Given the description of an element on the screen output the (x, y) to click on. 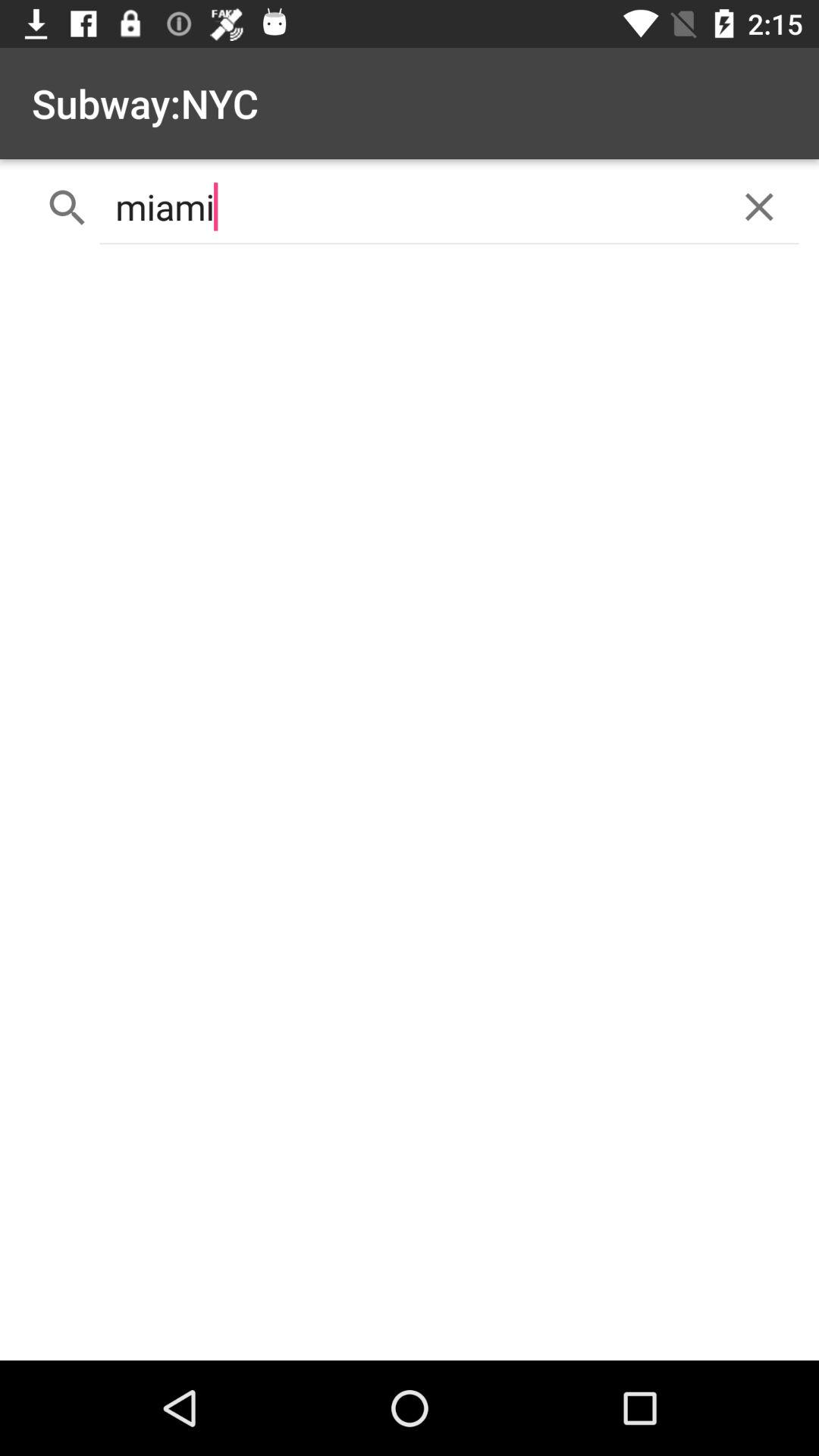
turn off the item next to miami (759, 206)
